Given the description of an element on the screen output the (x, y) to click on. 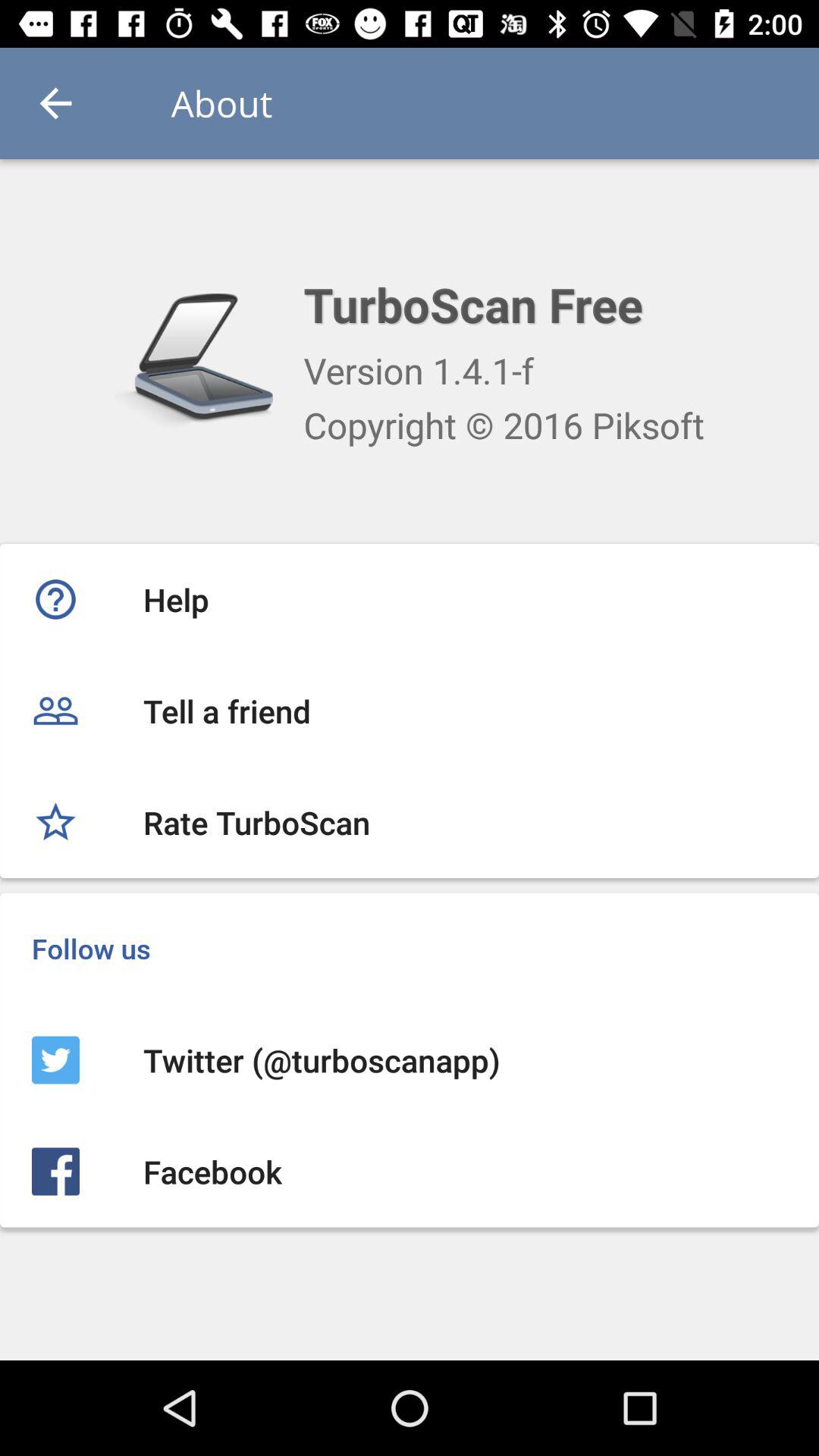
swipe to the tell a friend icon (409, 710)
